Given the description of an element on the screen output the (x, y) to click on. 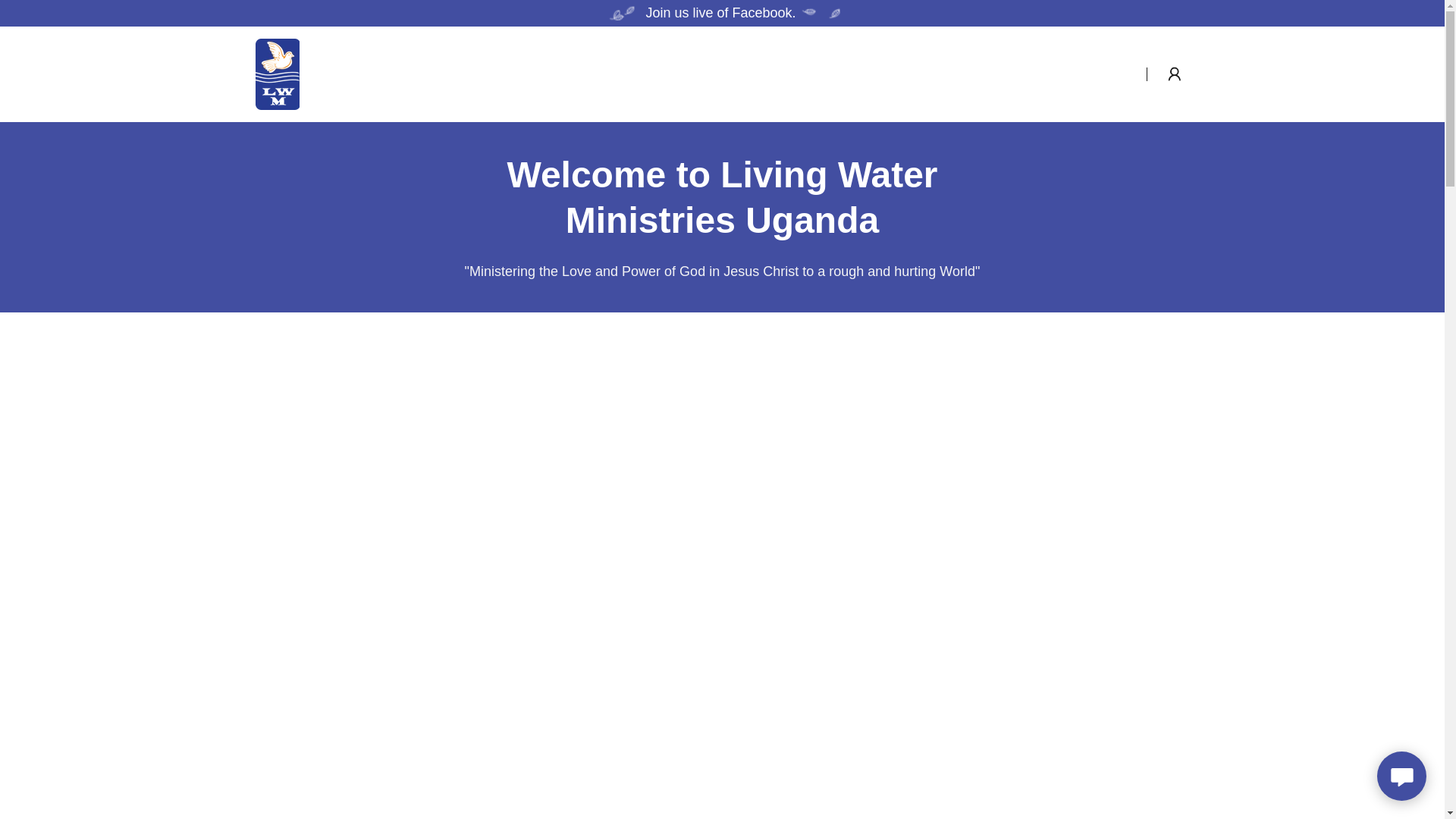
Livingwateruganda (276, 73)
